Given the description of an element on the screen output the (x, y) to click on. 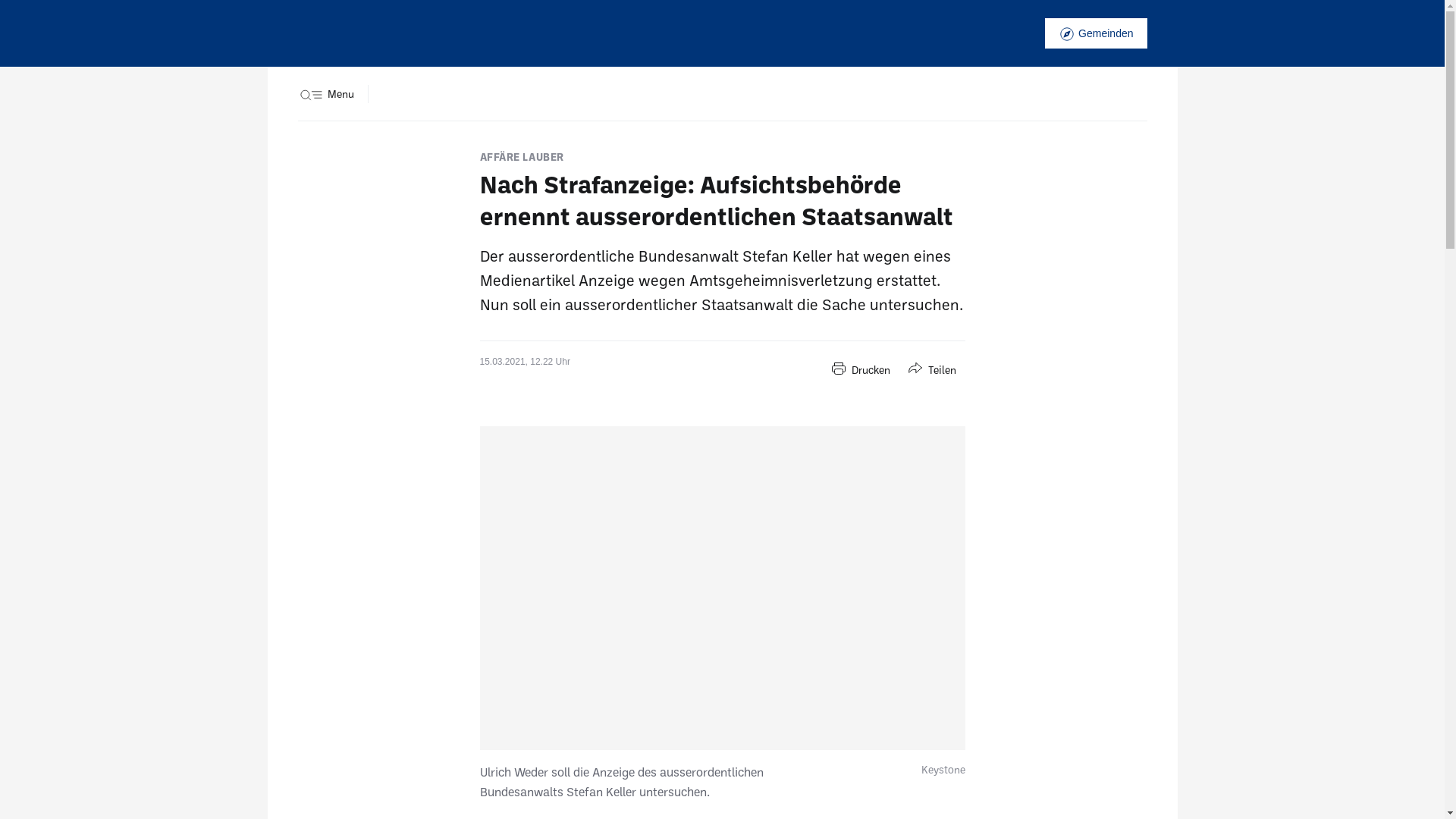
Menu Element type: text (325, 93)
Gemeinden Element type: text (1095, 33)
